Given the description of an element on the screen output the (x, y) to click on. 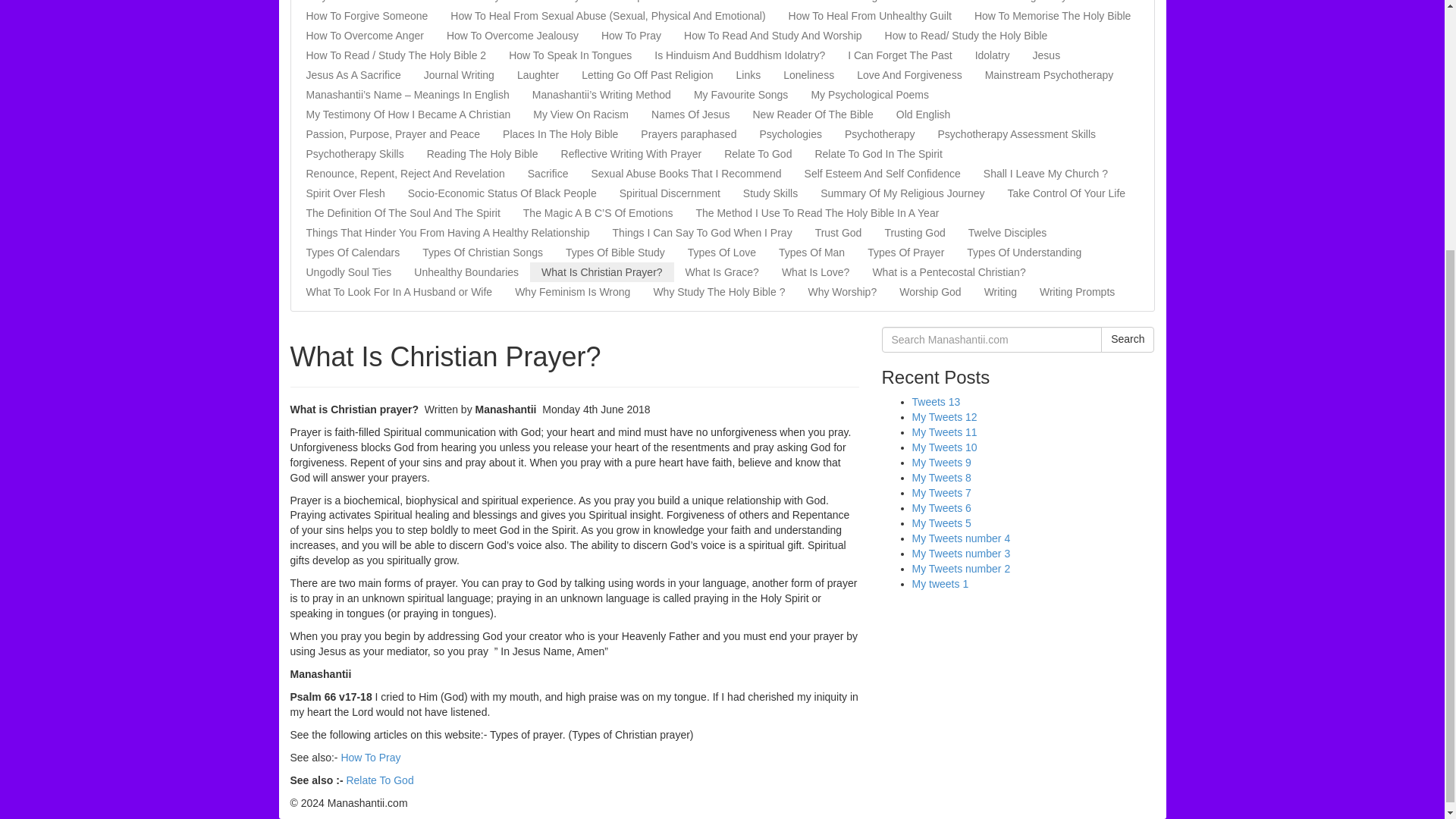
Honesty (480, 2)
How I Study And Worship (582, 2)
Holy Communion (345, 2)
Home (423, 2)
